Given the description of an element on the screen output the (x, y) to click on. 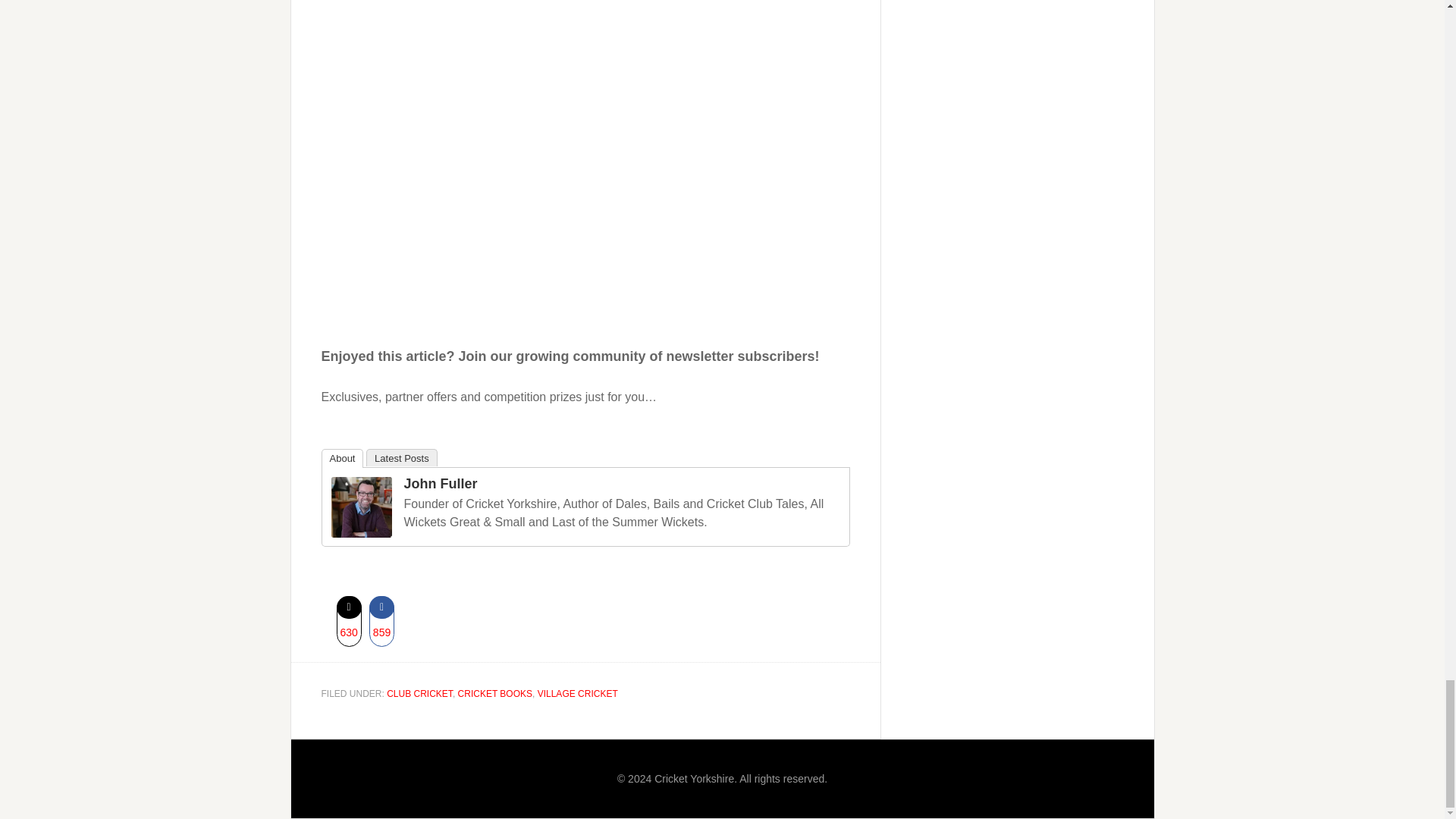
John Fuller (440, 483)
Latest Posts (402, 457)
CRICKET BOOKS (495, 693)
CLUB CRICKET (419, 693)
About (342, 457)
VILLAGE CRICKET (577, 693)
